Given the description of an element on the screen output the (x, y) to click on. 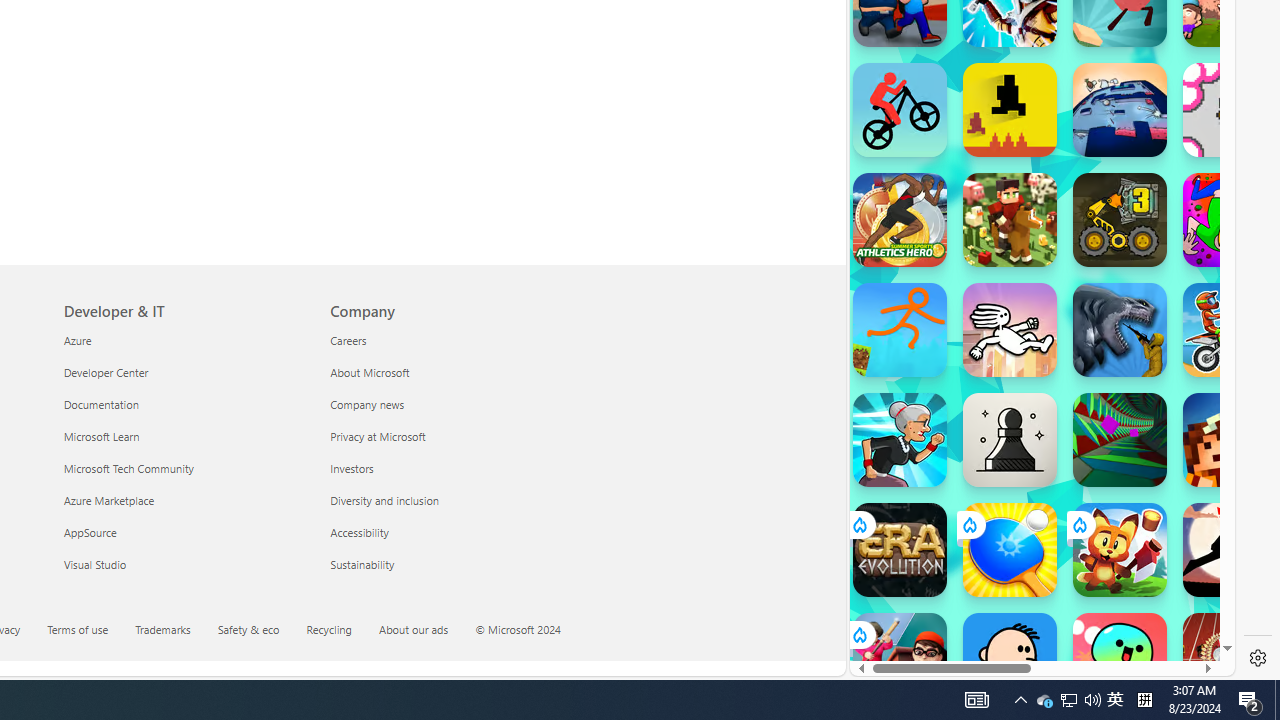
Sharkosaurus Rampage Sharkosaurus Rampage (1119, 329)
About Microsoft Company (369, 372)
Sharkosaurus Rampage (1119, 329)
Apple Knight: Farmers Market (1009, 219)
Investors (451, 468)
BoxRob 3 (1119, 219)
School Escape! (899, 659)
Tunnel Rush (1119, 439)
Developer Center (184, 371)
Azure Developer & IT (77, 339)
Search results from poki.com (1005, 59)
Recycling (329, 628)
Combat Reloaded (1090, 290)
